Given the description of an element on the screen output the (x, y) to click on. 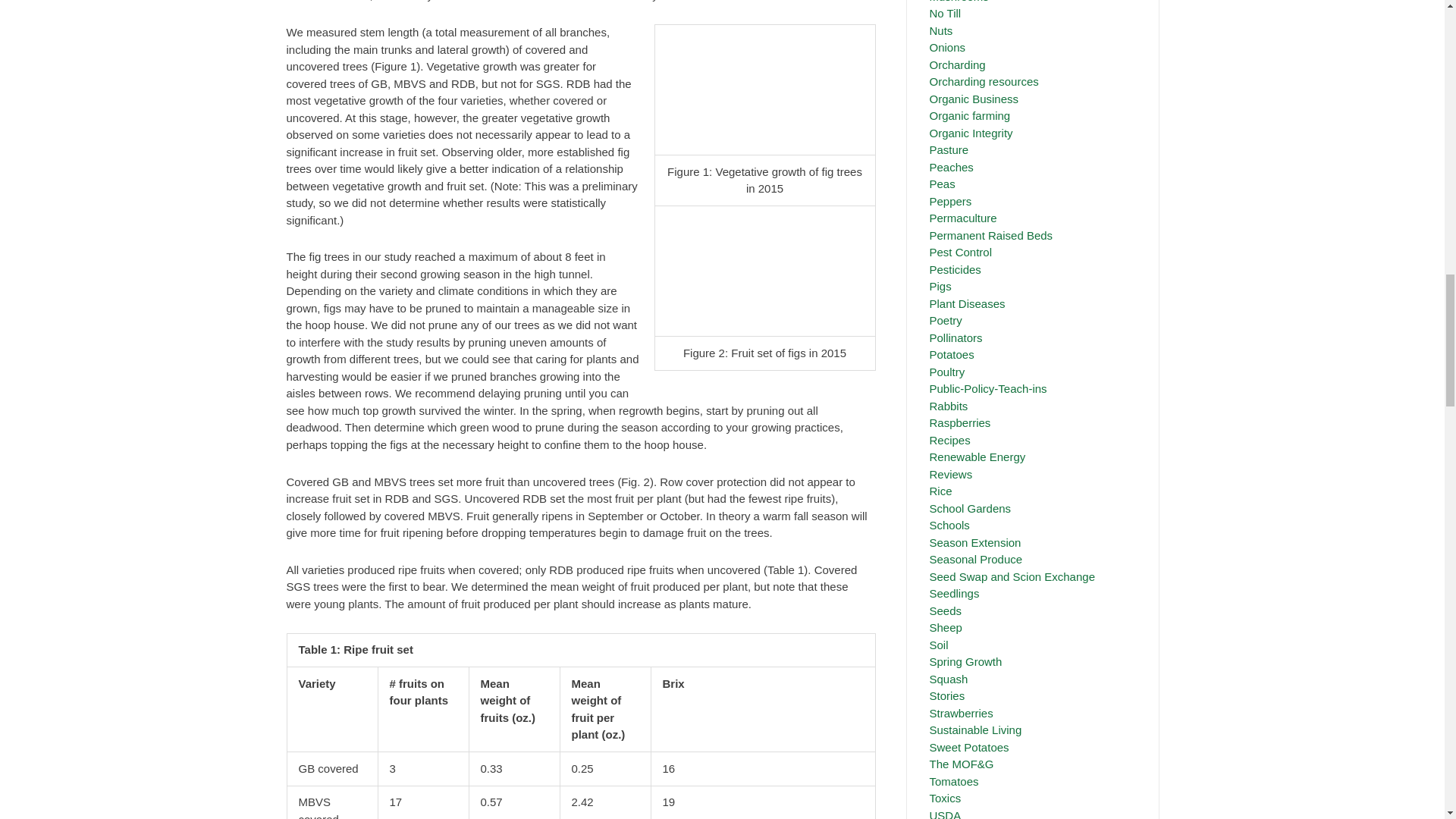
Figure 1: Vegetative growth of fig trees in 2015 (764, 90)
Figure 2: Fruit set of figs in 2015 (764, 270)
